Given the description of an element on the screen output the (x, y) to click on. 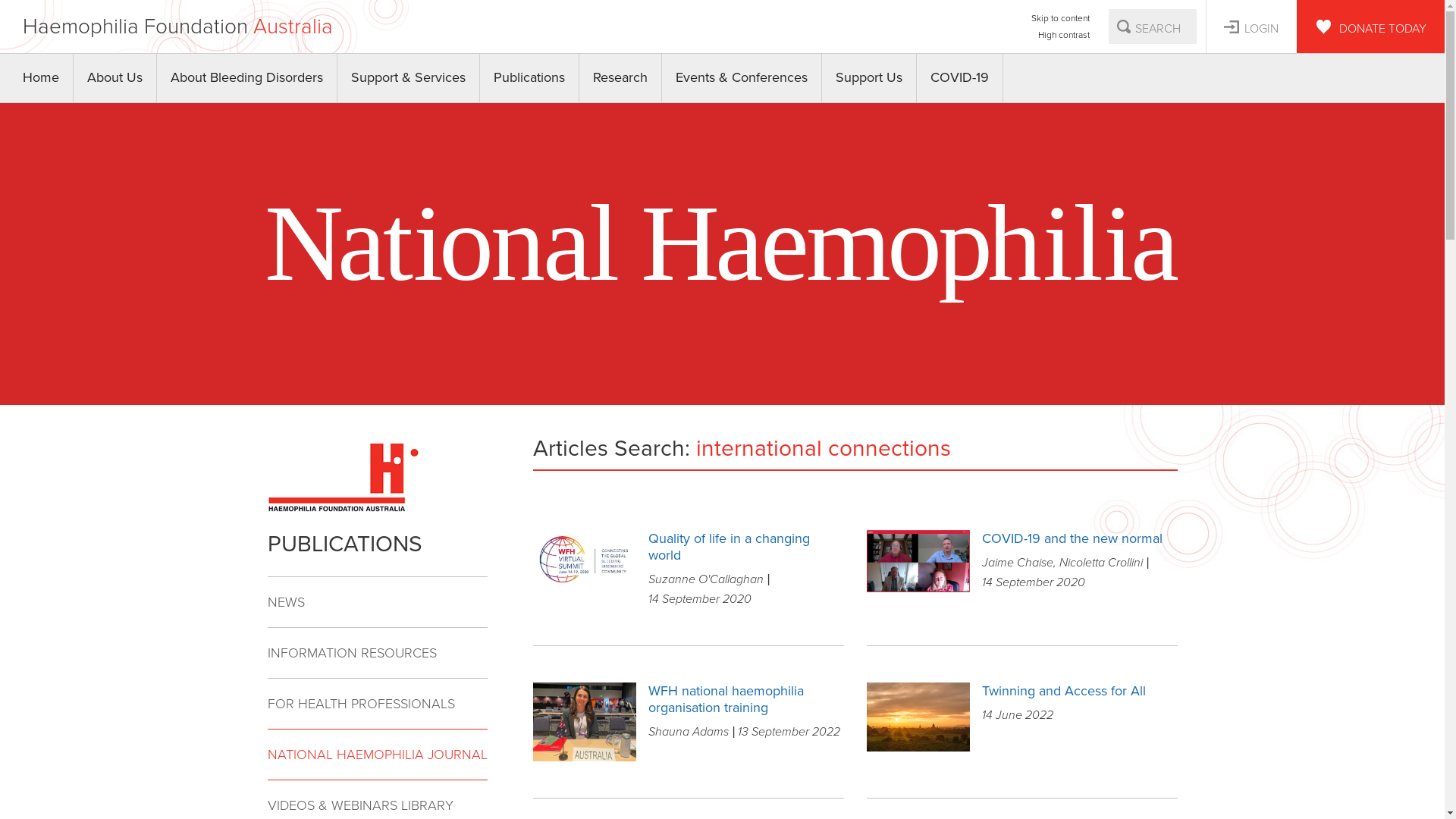
High contrast Element type: text (1060, 34)
INFORMATION RESOURCES Element type: text (376, 652)
COVID-19 Element type: text (959, 77)
Skip to content Element type: text (1060, 17)
Twinning and Access for All Element type: text (1079, 690)
Research Element type: text (620, 77)
COVID-19 and the new normal Element type: text (1079, 538)
Support Us Element type: text (869, 77)
Support & Services Element type: text (408, 77)
FOR HEALTH PROFESSIONALS Element type: text (376, 703)
Search Element type: text (1123, 26)
WFH national haemophilia organisation training Element type: text (745, 698)
Events & Conferences Element type: text (742, 77)
NATIONAL HAEMOPHILIA JOURNAL Element type: text (376, 754)
Publications Element type: text (529, 77)
Home Element type: text (41, 77)
About Us Element type: text (114, 77)
NEWS Element type: text (376, 602)
LOGIN Element type: text (1250, 26)
About Bleeding Disorders Element type: text (246, 77)
Quality of life in a changing world Element type: text (745, 546)
DONATE TODAY Element type: text (1370, 26)
